Given the description of an element on the screen output the (x, y) to click on. 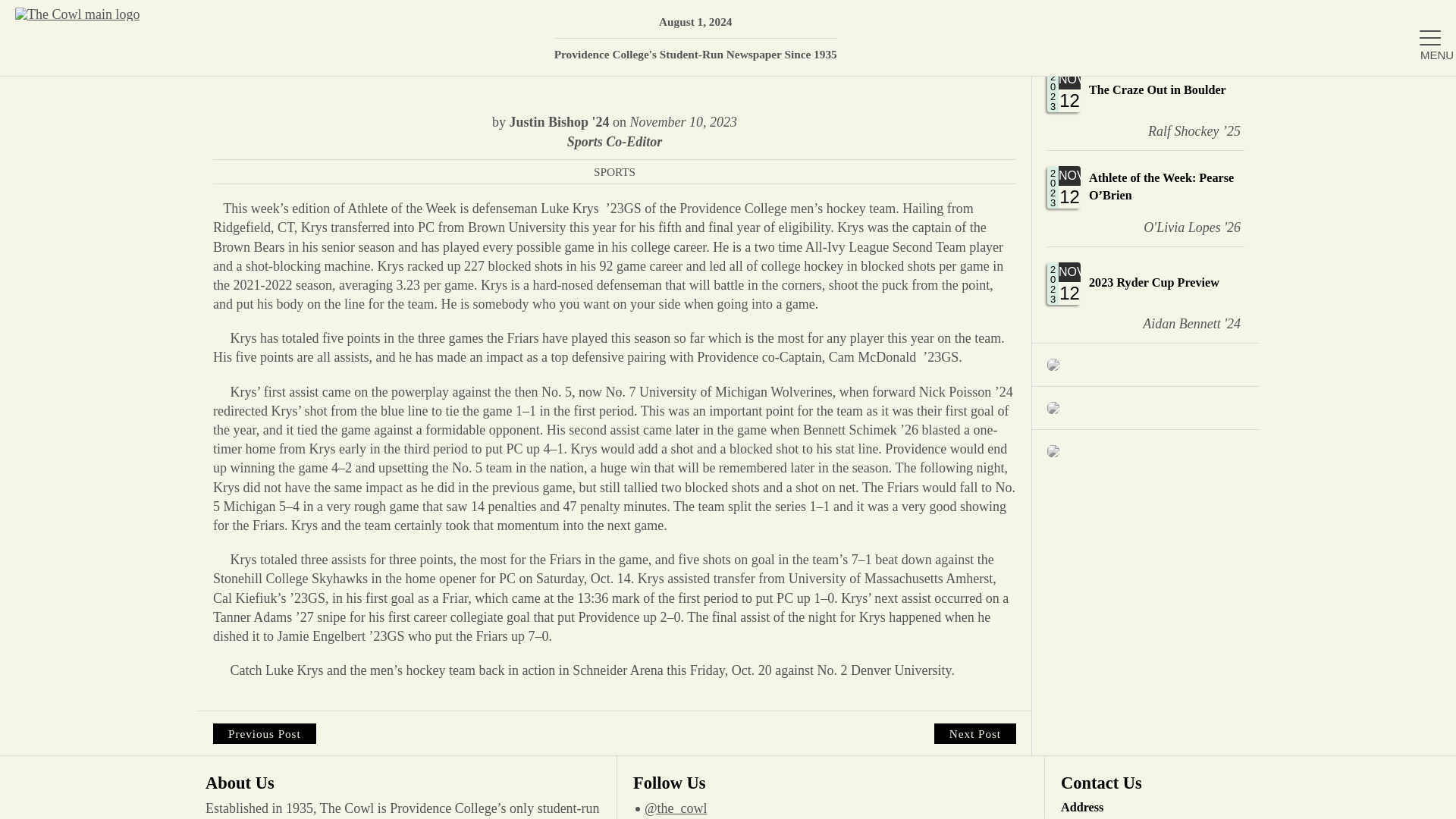
O'Livia Lopes '26 (1180, 226)
Search (1422, 19)
News (1275, 174)
Aidan Bennett '24 (1180, 323)
Previous Post (263, 733)
Sports (1275, 370)
The Craze Out in Boulder (1145, 101)
Next Post (975, 733)
Search (1145, 101)
About Us (1422, 19)
Home (1275, 124)
Letters to the Editor (1275, 74)
Opinion (1275, 420)
